Given the description of an element on the screen output the (x, y) to click on. 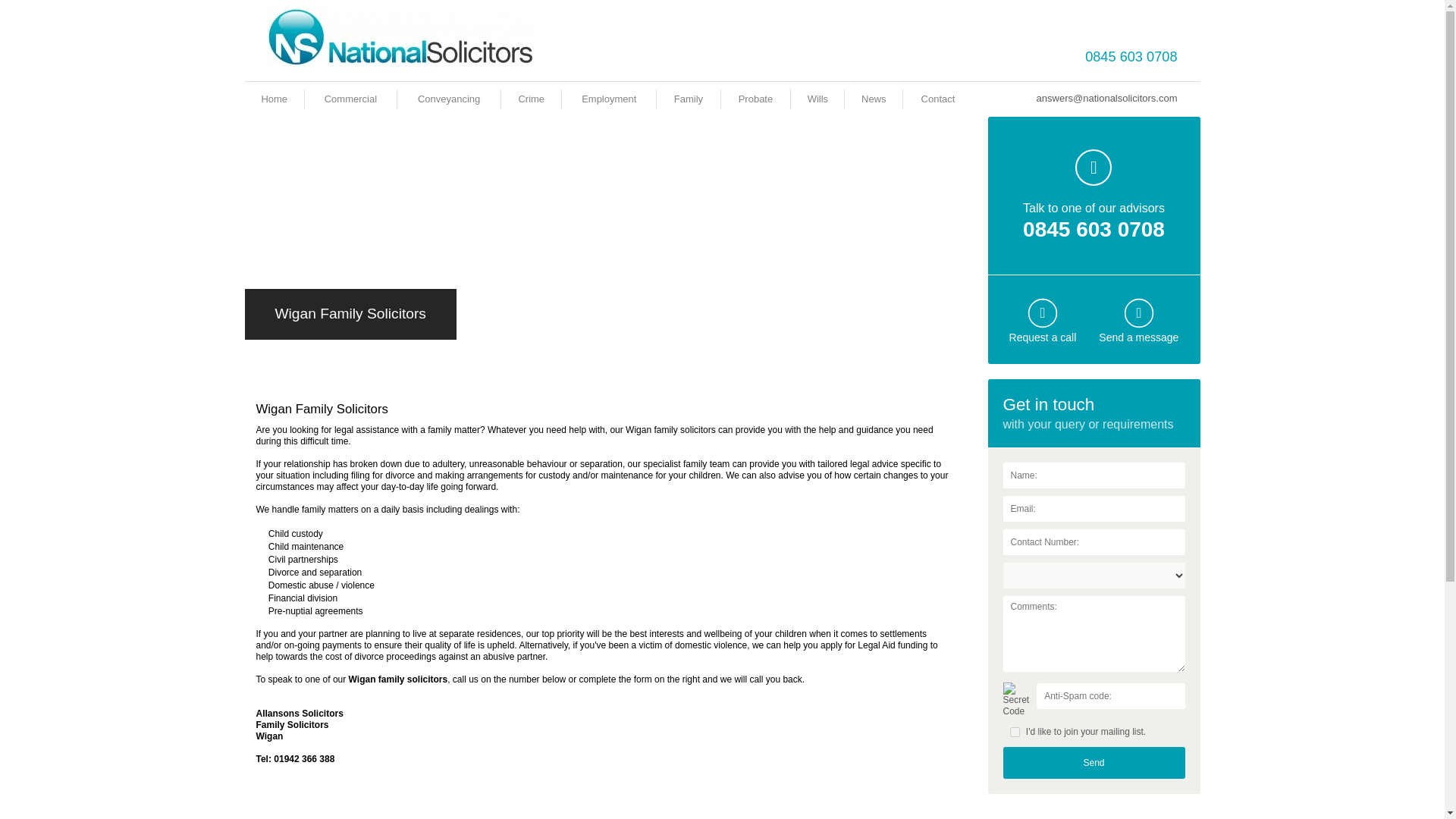
Request a call (1043, 337)
Conveyancing (448, 98)
Send (1094, 762)
News (873, 98)
0845 603 0708 (1130, 56)
Home (273, 98)
Commercial (350, 98)
Probate (755, 98)
Send a message (1138, 337)
Employment (608, 98)
Contact (938, 98)
Crime (531, 98)
1 (1015, 732)
Family (688, 98)
0845 603 0708 (1093, 228)
